Given the description of an element on the screen output the (x, y) to click on. 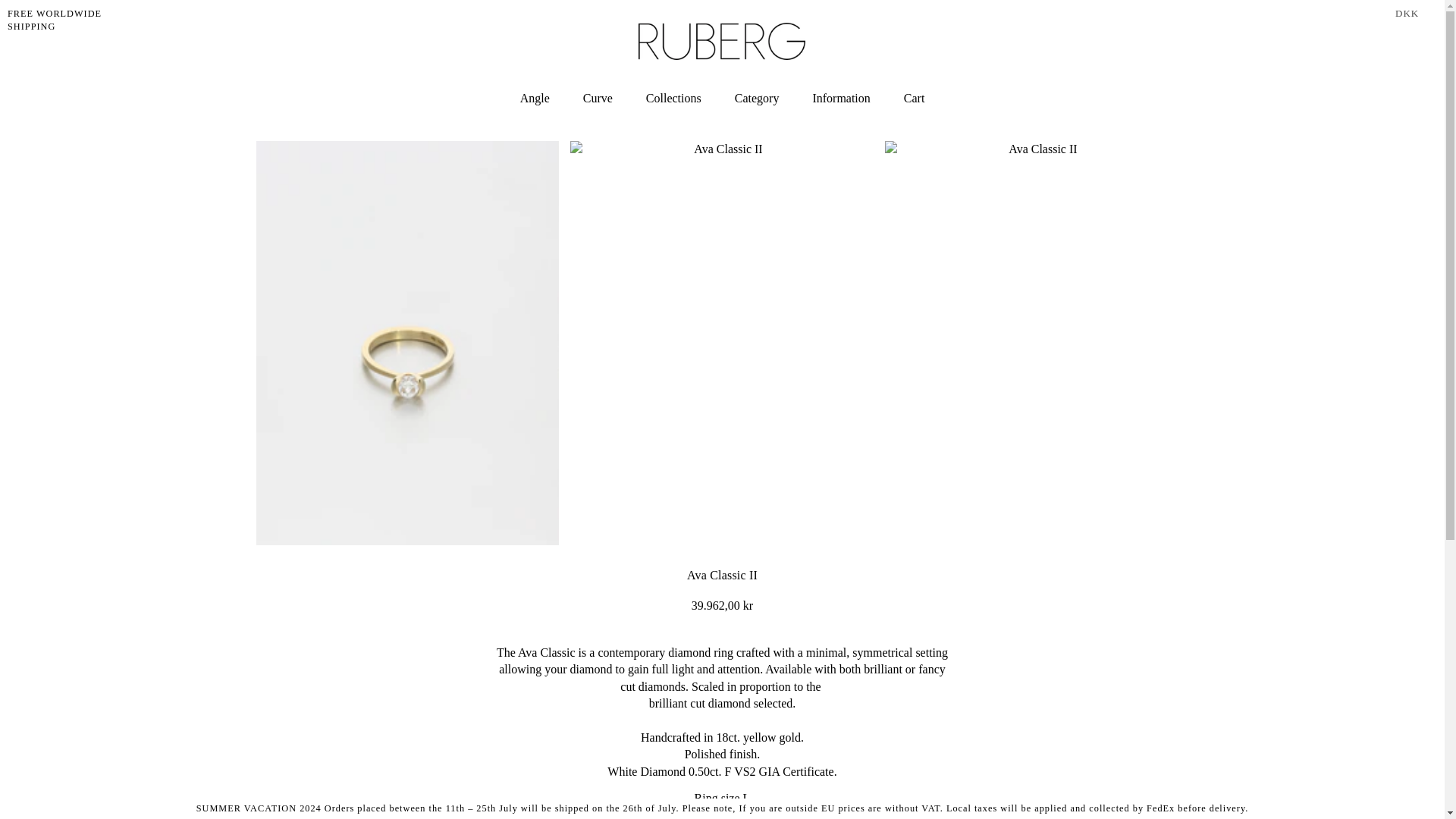
Angle (534, 99)
FREE WORLDWIDE SHIPPING (75, 20)
Curve (673, 99)
